Given the description of an element on the screen output the (x, y) to click on. 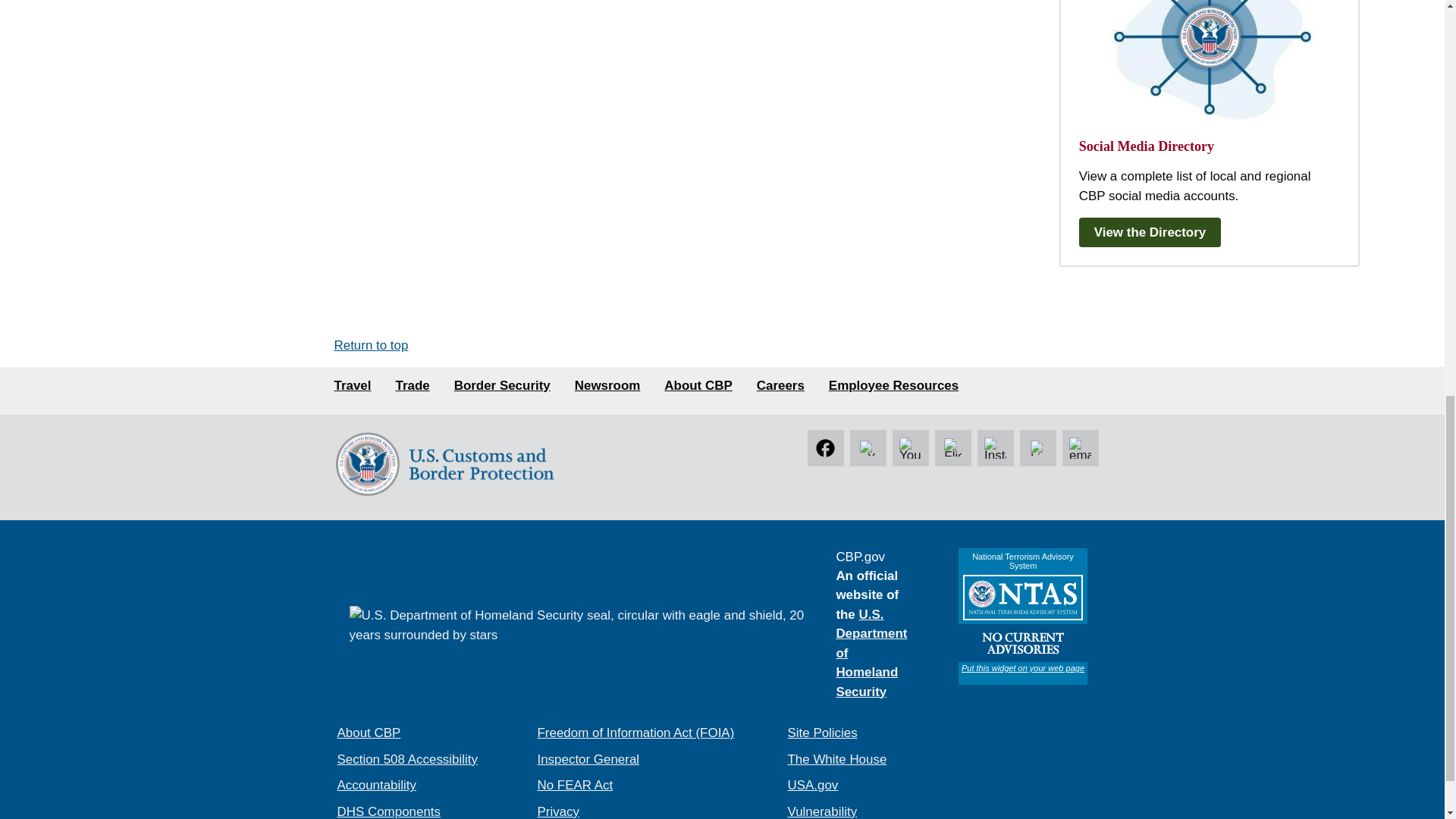
Return to top (370, 345)
Travel (352, 385)
Newsroom (607, 385)
Travel (352, 385)
National Terrorism Advisory System (1022, 615)
Careers (781, 385)
About (697, 385)
View the Directory (1152, 232)
Border Security (502, 385)
